Given the description of an element on the screen output the (x, y) to click on. 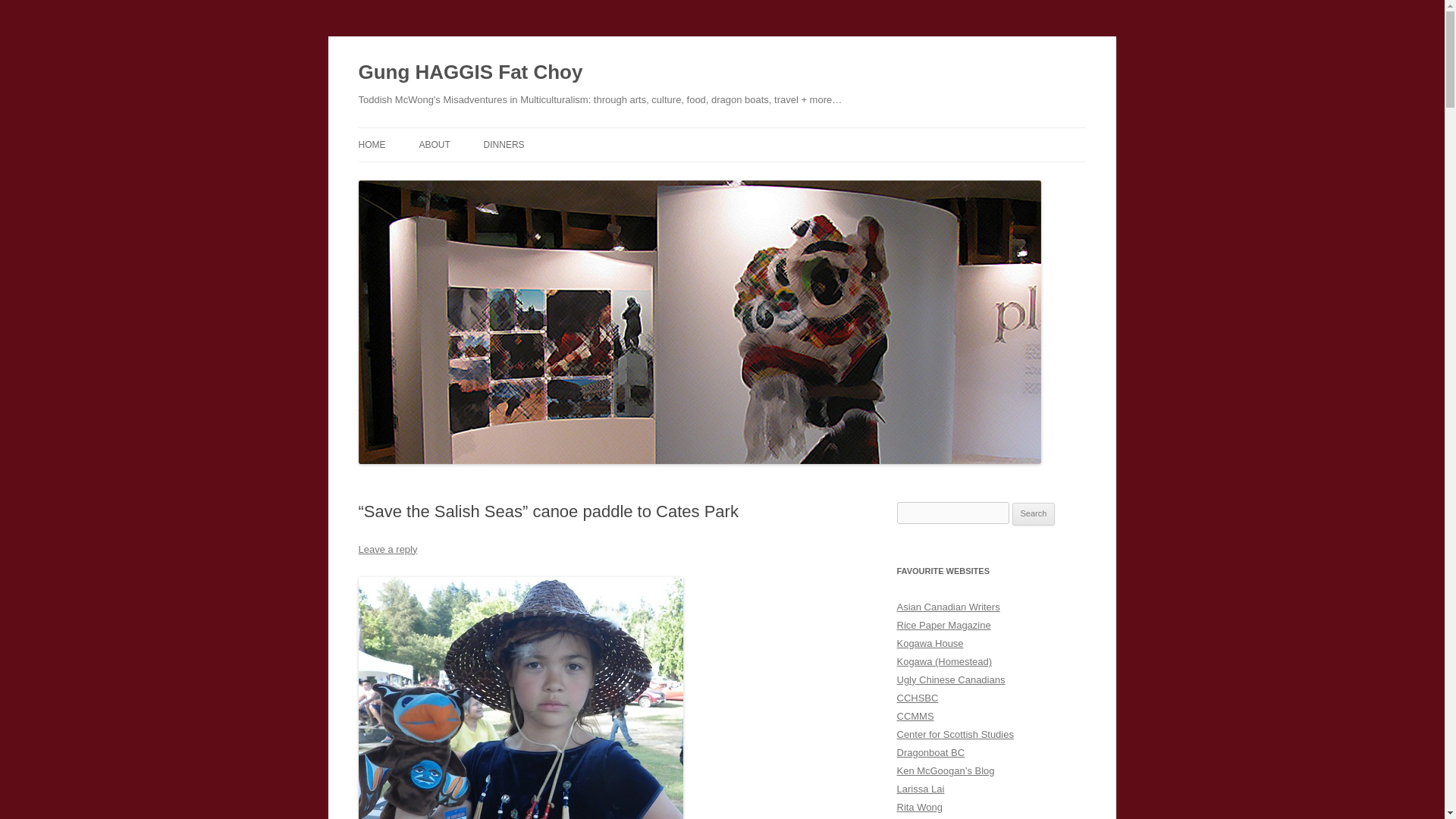
Rita Wong (919, 807)
ABOUT (434, 144)
Rice Paper Magazine (943, 624)
CCMMS (914, 715)
CCHSBC (916, 697)
Ugly Chinese Canadians (950, 679)
Search (1033, 513)
Gung HAGGIS Fat Choy (470, 72)
Larissa Lai (919, 788)
Center for Scottish Studies (954, 734)
DINNERS (503, 144)
Asian Canadian Writers (947, 606)
Dragonboat BC (929, 752)
